Given the description of an element on the screen output the (x, y) to click on. 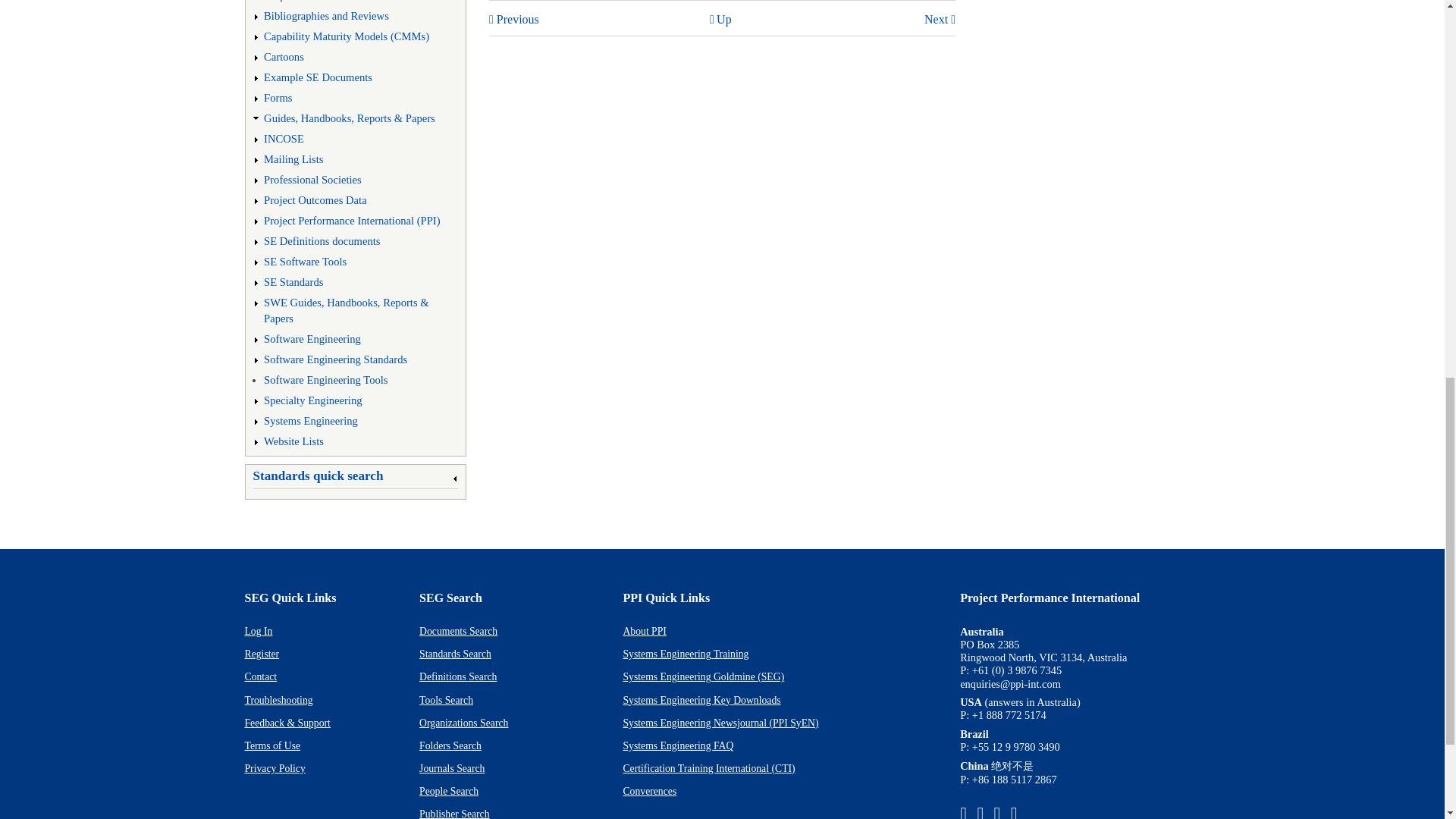
Go to next page (939, 19)
Go to previous page (513, 19)
Go to parent page (721, 19)
